Given the description of an element on the screen output the (x, y) to click on. 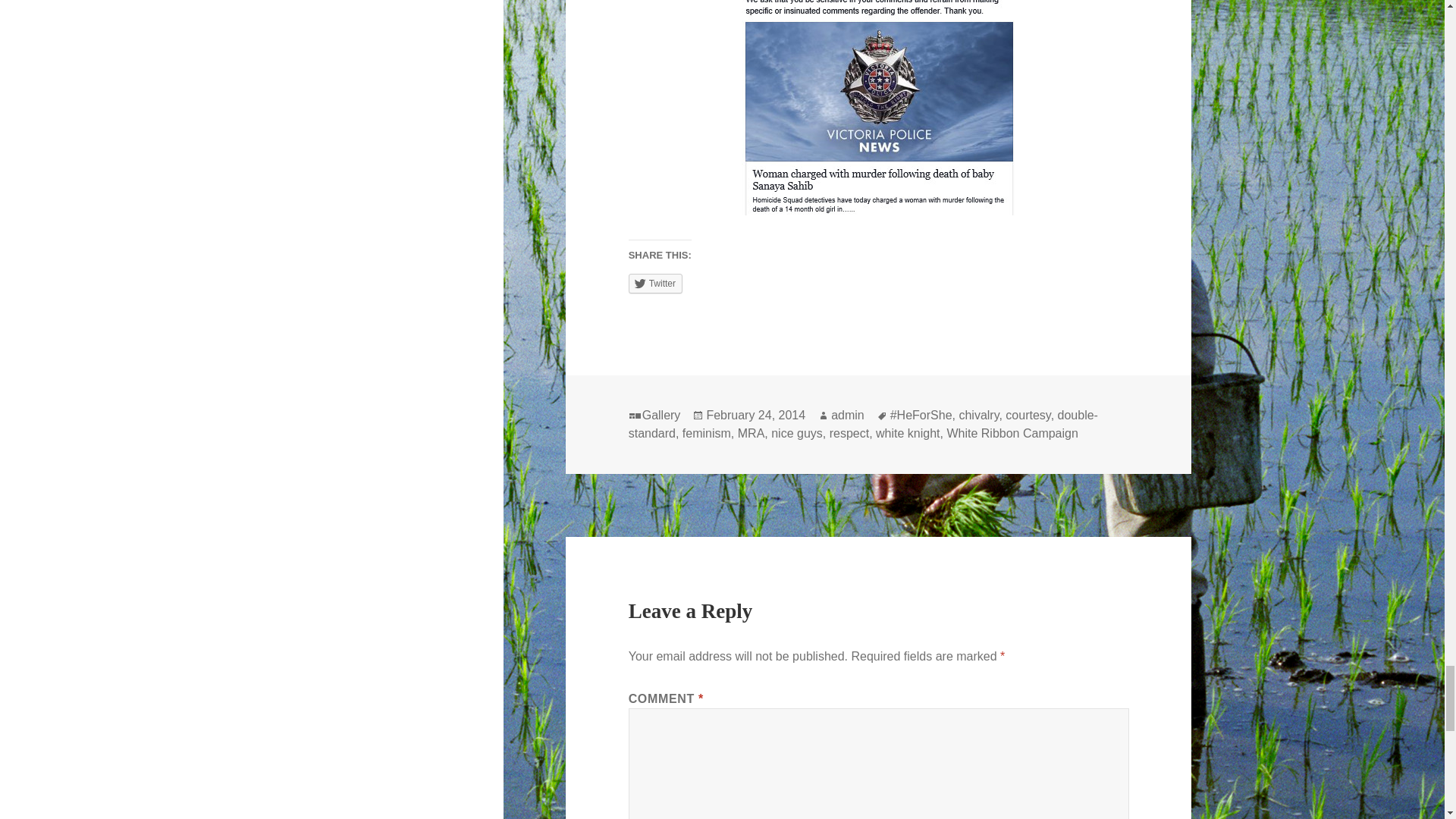
Click to share on Twitter (655, 283)
